Given the description of an element on the screen output the (x, y) to click on. 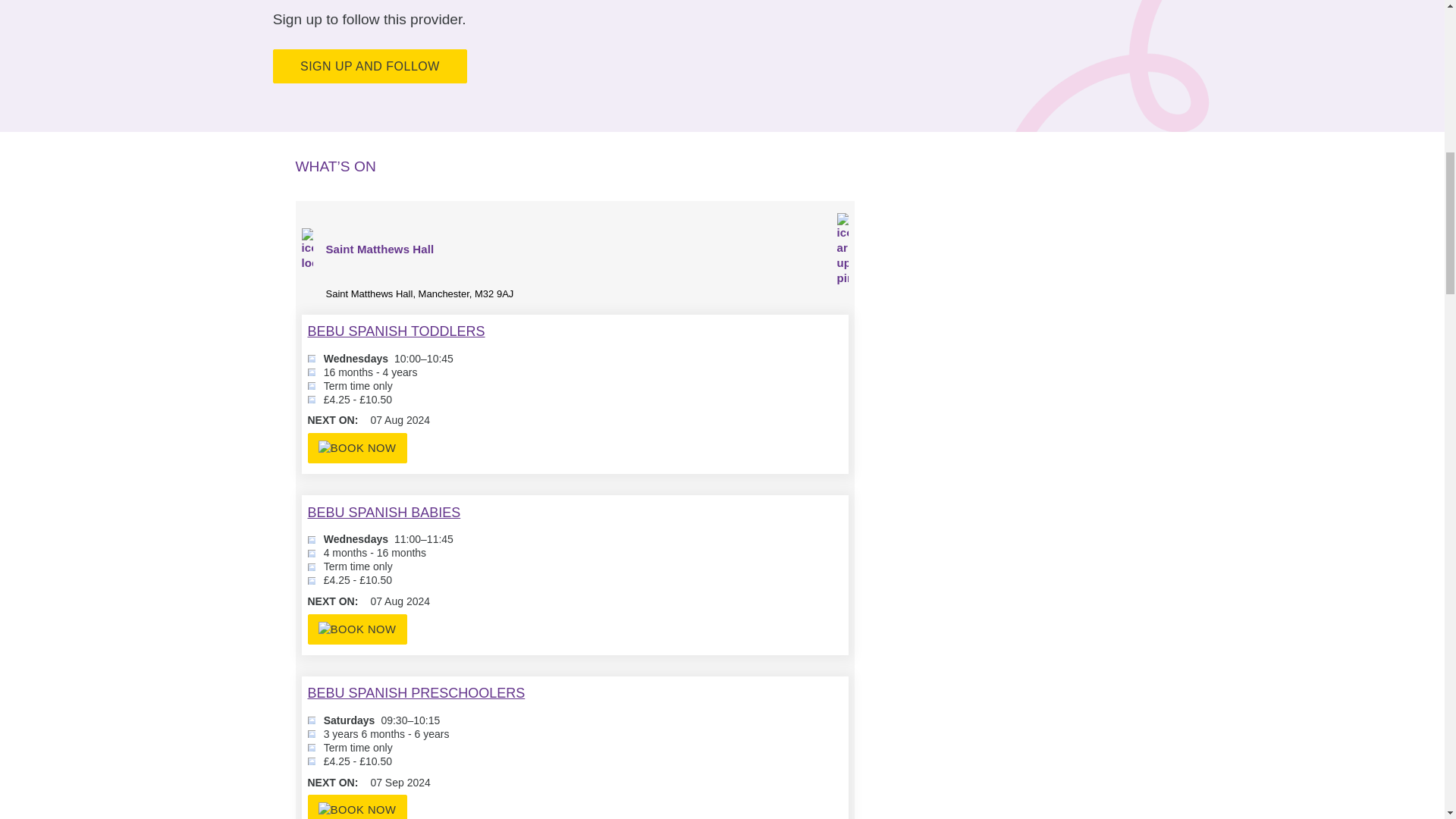
BEBU SPANISH BABIES (384, 512)
BOOK NOW (357, 629)
BEBU SPANISH TODDLERS (395, 331)
SIGN UP AND FOLLOW (370, 66)
BOOK NOW (357, 448)
BEBU SPANISH PRESCHOOLERS (416, 693)
BOOK NOW (357, 806)
